Given the description of an element on the screen output the (x, y) to click on. 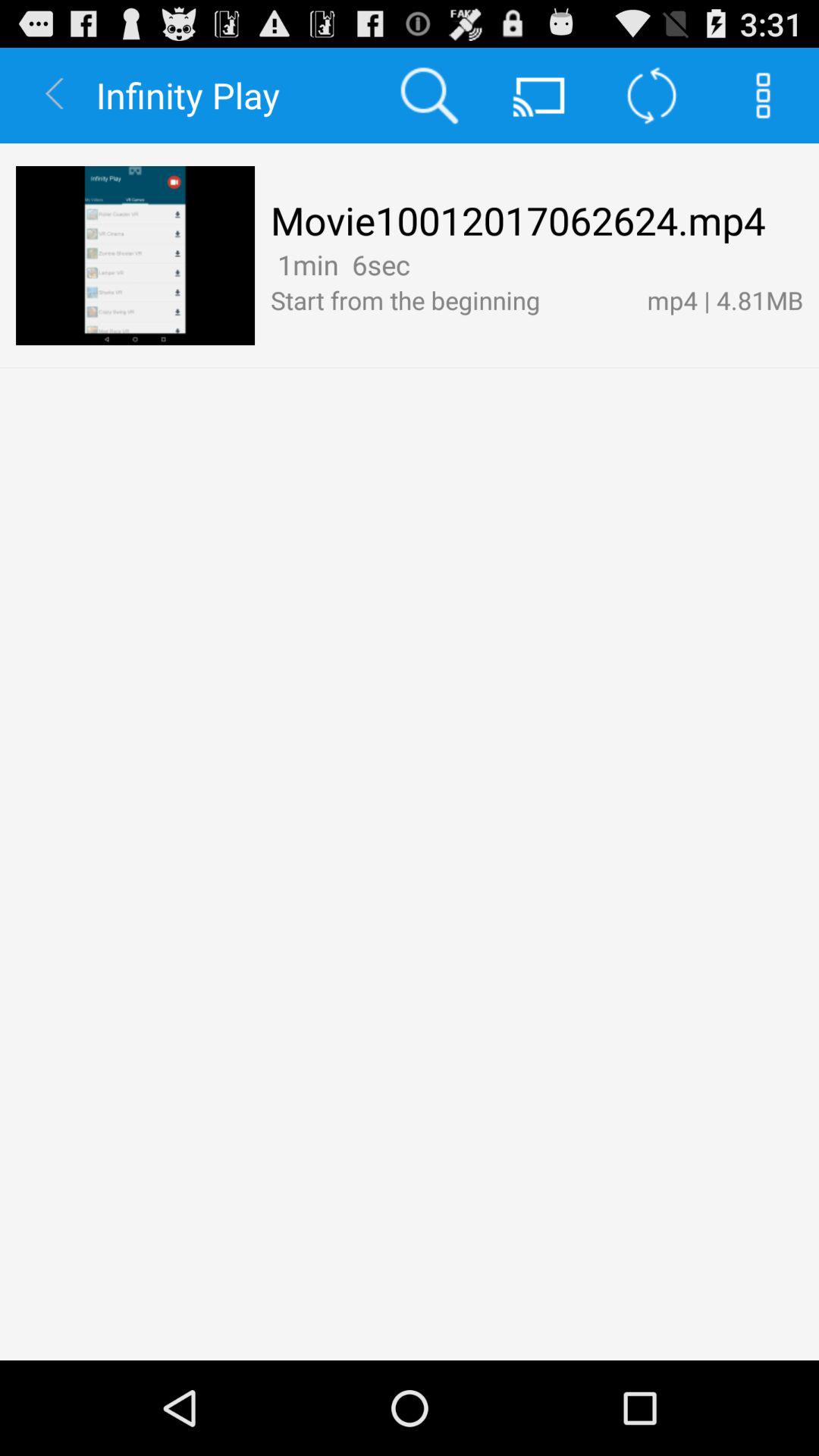
jump until the start from the (450, 299)
